Given the description of an element on the screen output the (x, y) to click on. 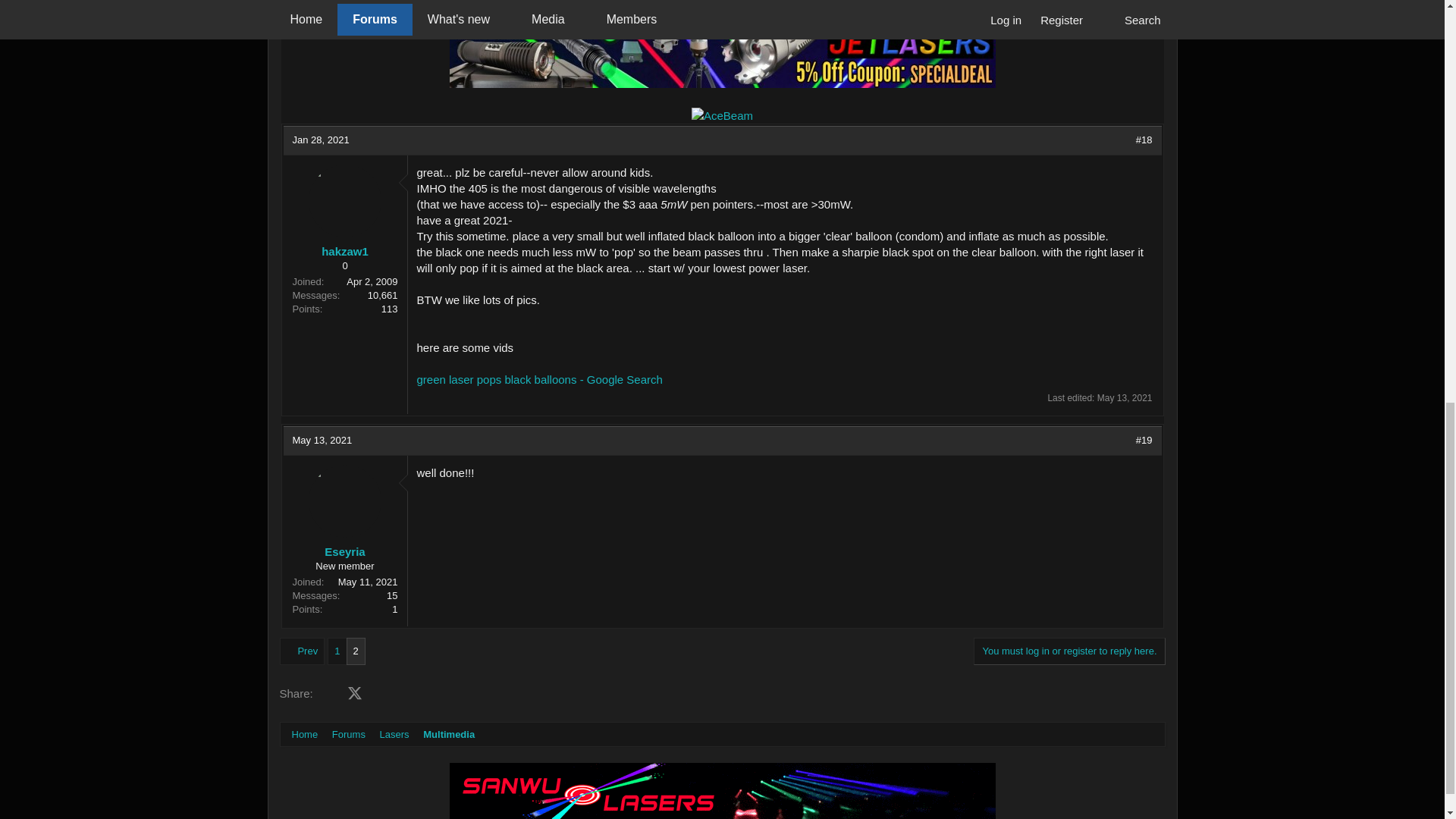
May 13, 2021 at 12:07 PM (322, 439)
JETLASERS (721, 53)
Jan 28, 2021 at 9:25 PM (320, 139)
May 13, 2021 at 10:19 PM (1125, 398)
Sanwu Lasers (721, 790)
Sanwu Lasers (721, 2)
AceBeam (721, 115)
